Given the description of an element on the screen output the (x, y) to click on. 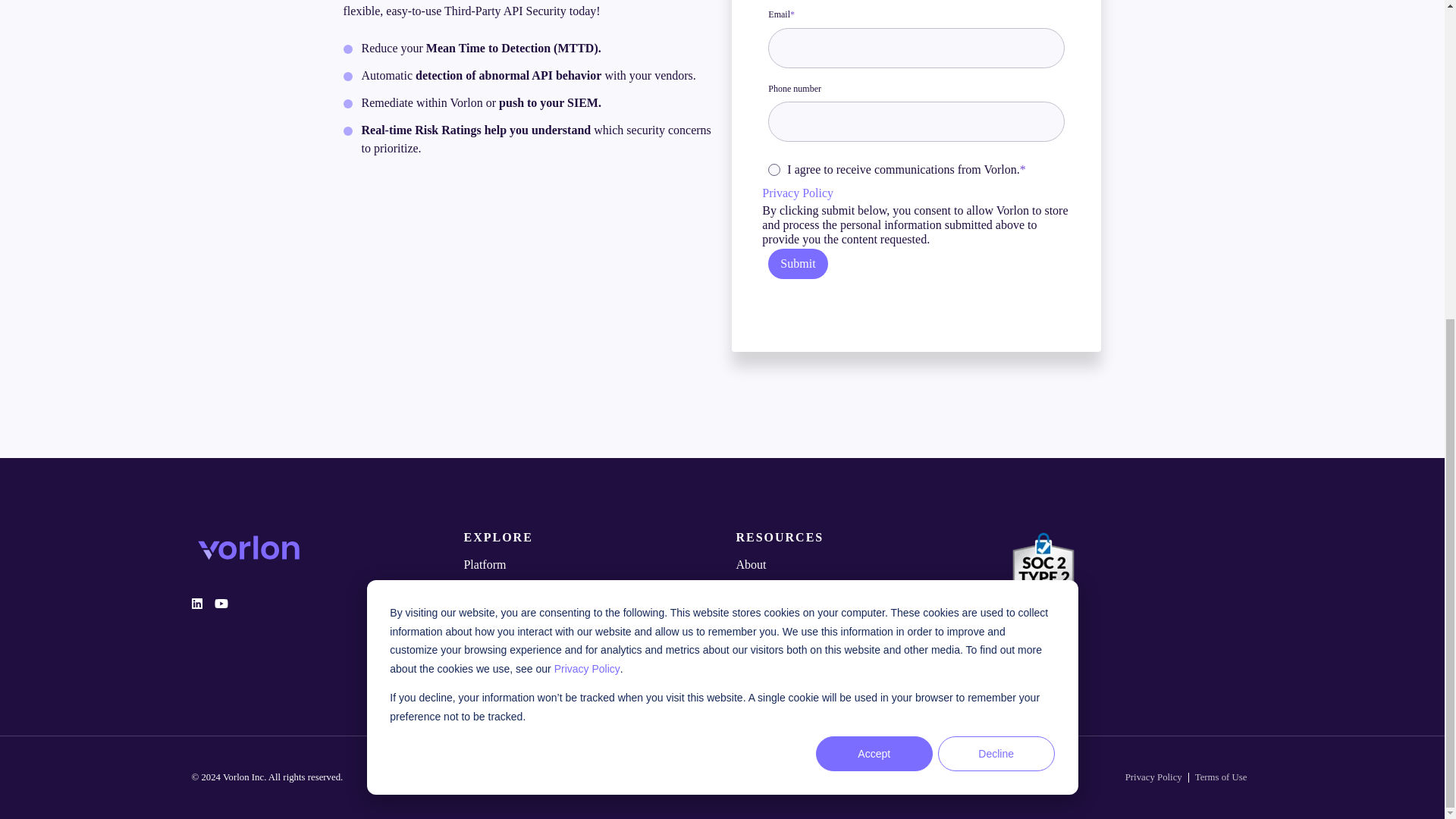
About (857, 564)
Privacy Policy (796, 192)
true (774, 169)
Submit (798, 263)
Careers (857, 587)
Platform (585, 564)
Talk to Sales (585, 654)
Submit (798, 263)
Integrations (585, 587)
